Given the description of an element on the screen output the (x, y) to click on. 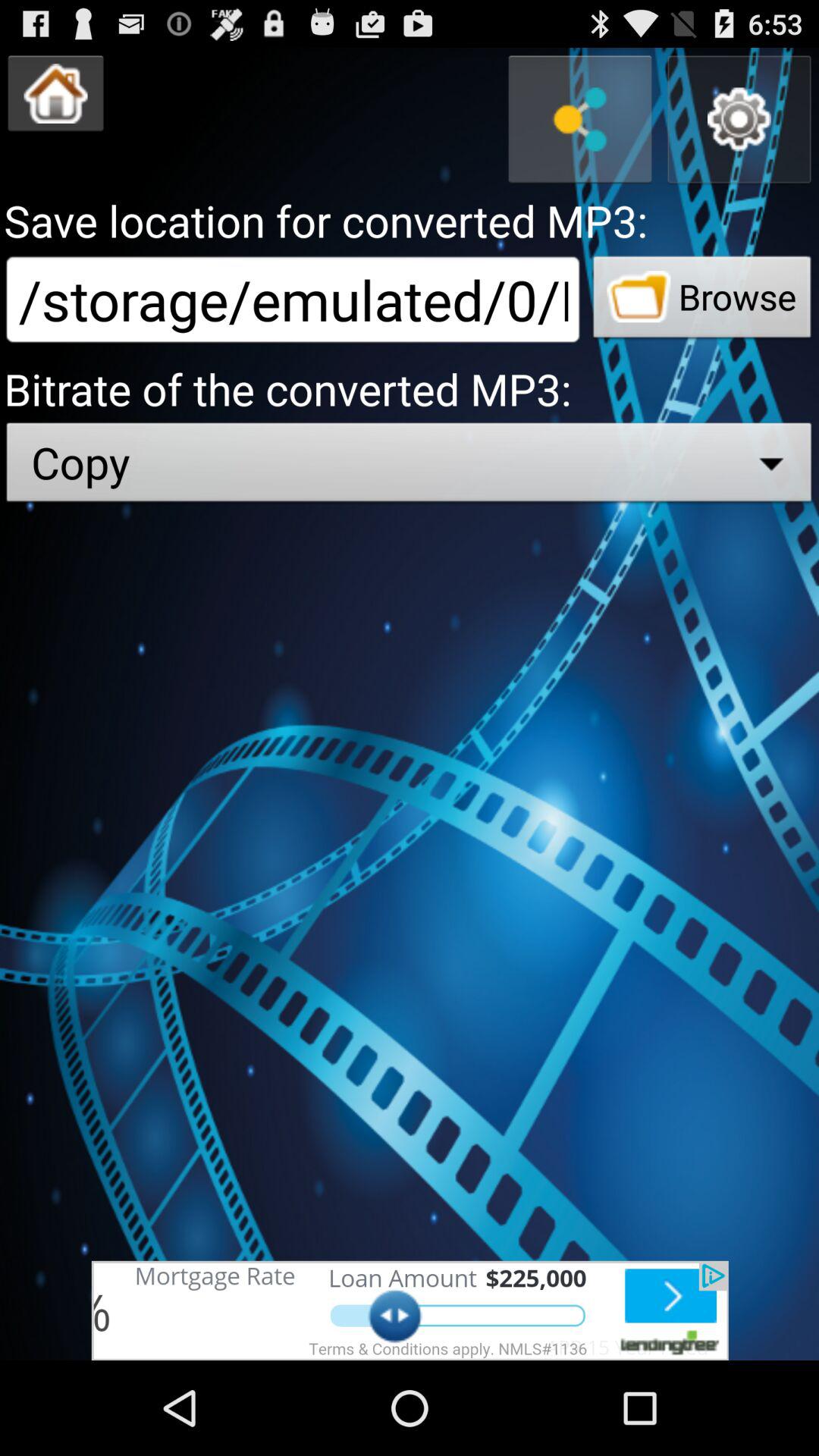
advertisement (409, 1310)
